Given the description of an element on the screen output the (x, y) to click on. 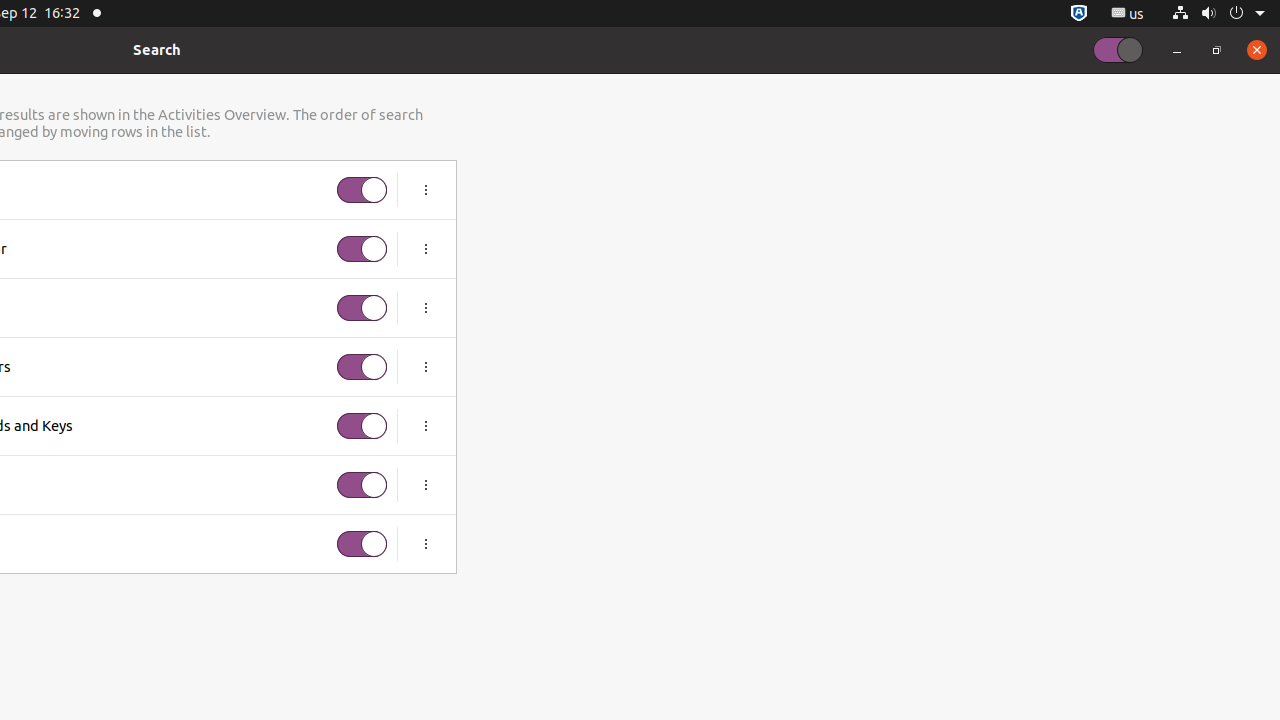
Close Element type: push-button (1257, 50)
Search Element type: label (157, 49)
Minimize Element type: push-button (1177, 50)
